Given the description of an element on the screen output the (x, y) to click on. 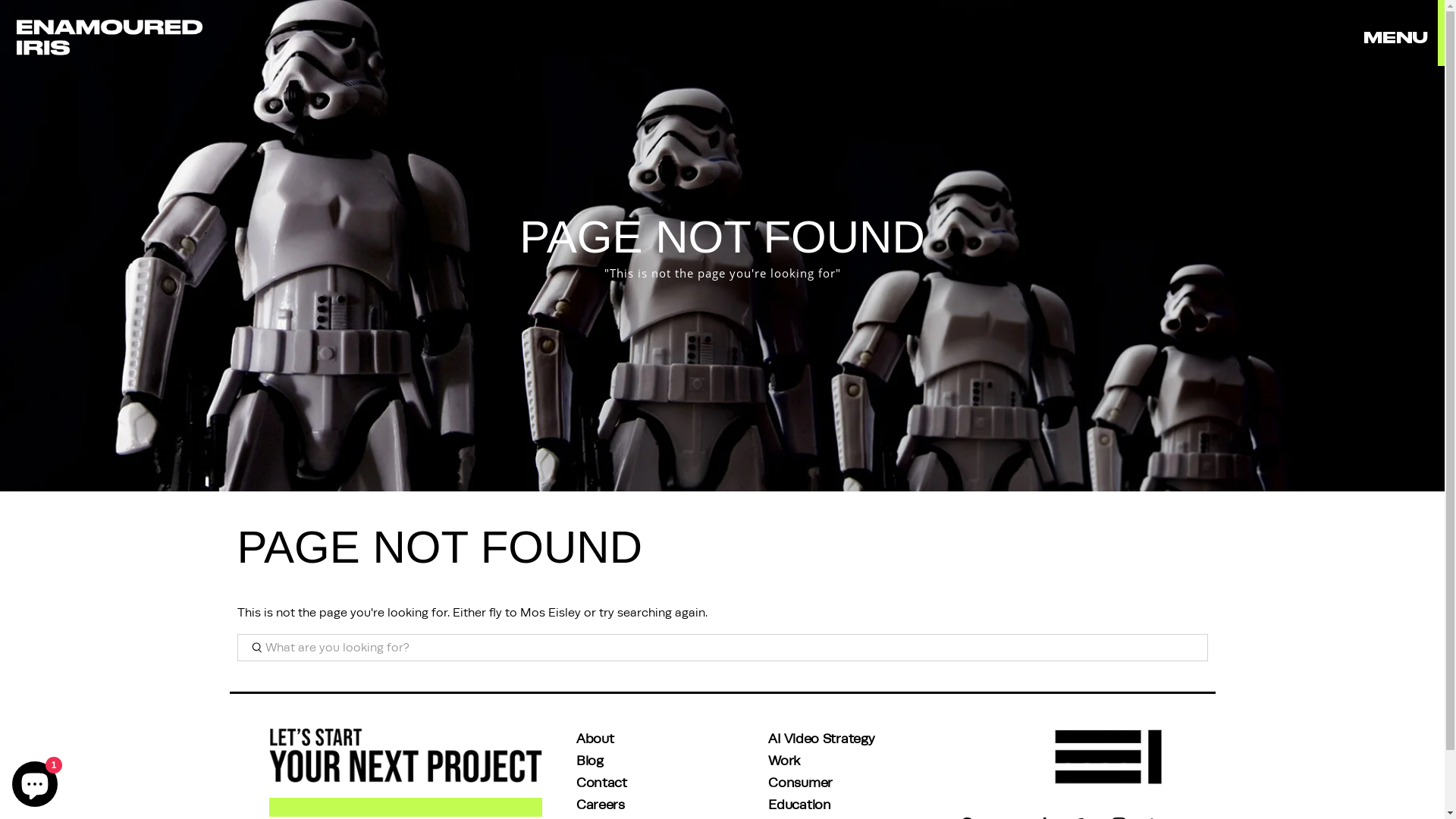
Enamoured Iris Element type: hover (1110, 765)
Shopify online store chat Element type: hover (34, 780)
Blog Element type: text (589, 759)
Careers Element type: text (600, 803)
About Element type: text (595, 738)
Education Element type: text (799, 803)
Contact Element type: text (601, 782)
Enamoured Iris Element type: hover (404, 772)
AI Video Strategy Element type: text (821, 738)
Work Element type: text (784, 759)
Enamoured Iris Element type: hover (109, 37)
Consumer Element type: text (800, 782)
